Given the description of an element on the screen output the (x, y) to click on. 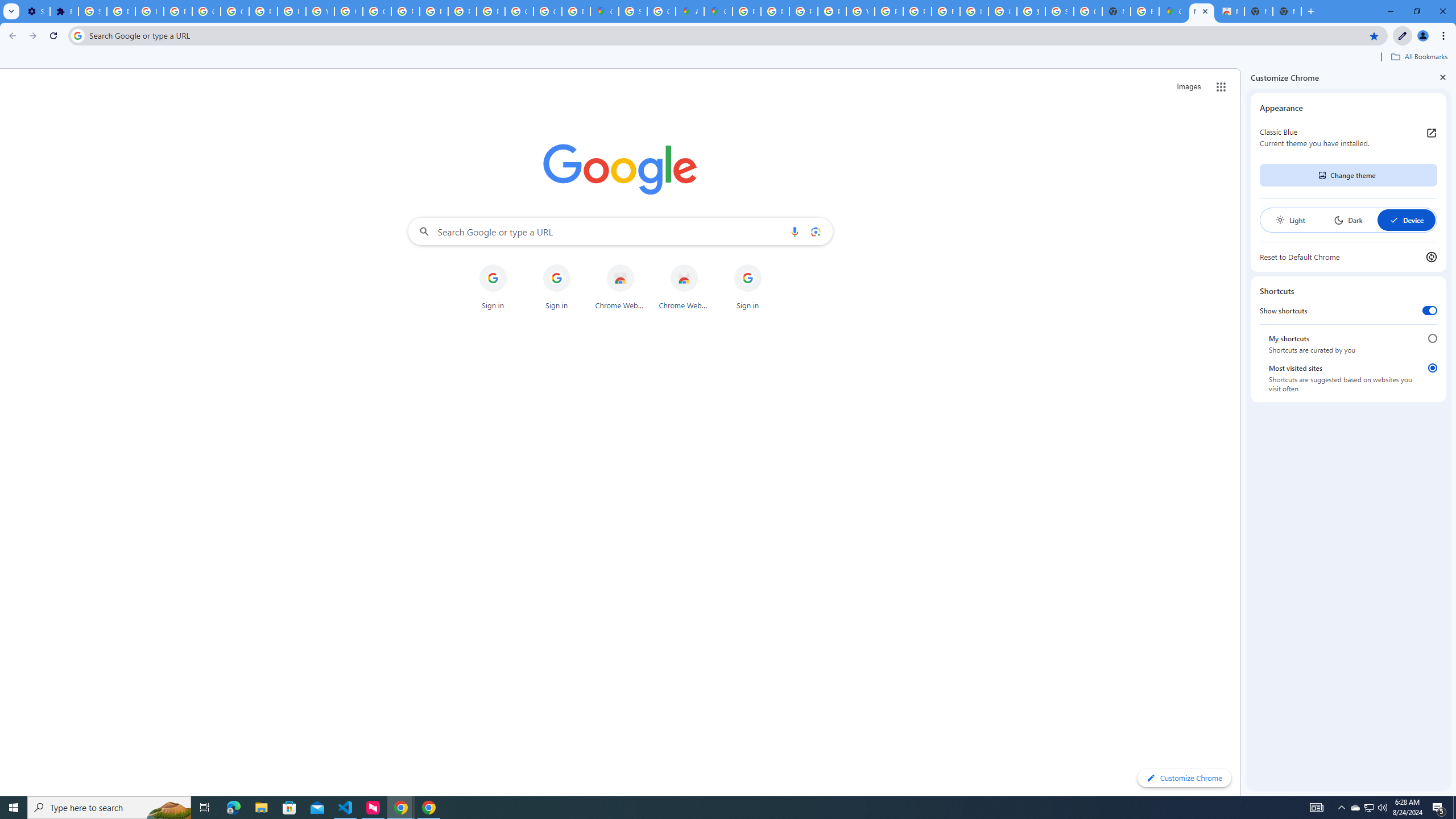
Most visited sites (1432, 367)
Dark (1348, 219)
My shortcuts (1432, 338)
Bookmarks (728, 58)
Explore new street-level details - Google Maps Help (1144, 11)
Search Google or type a URL (619, 230)
New Tab (1287, 11)
Classic Blue Current theme you have installed. (1347, 137)
